Given the description of an element on the screen output the (x, y) to click on. 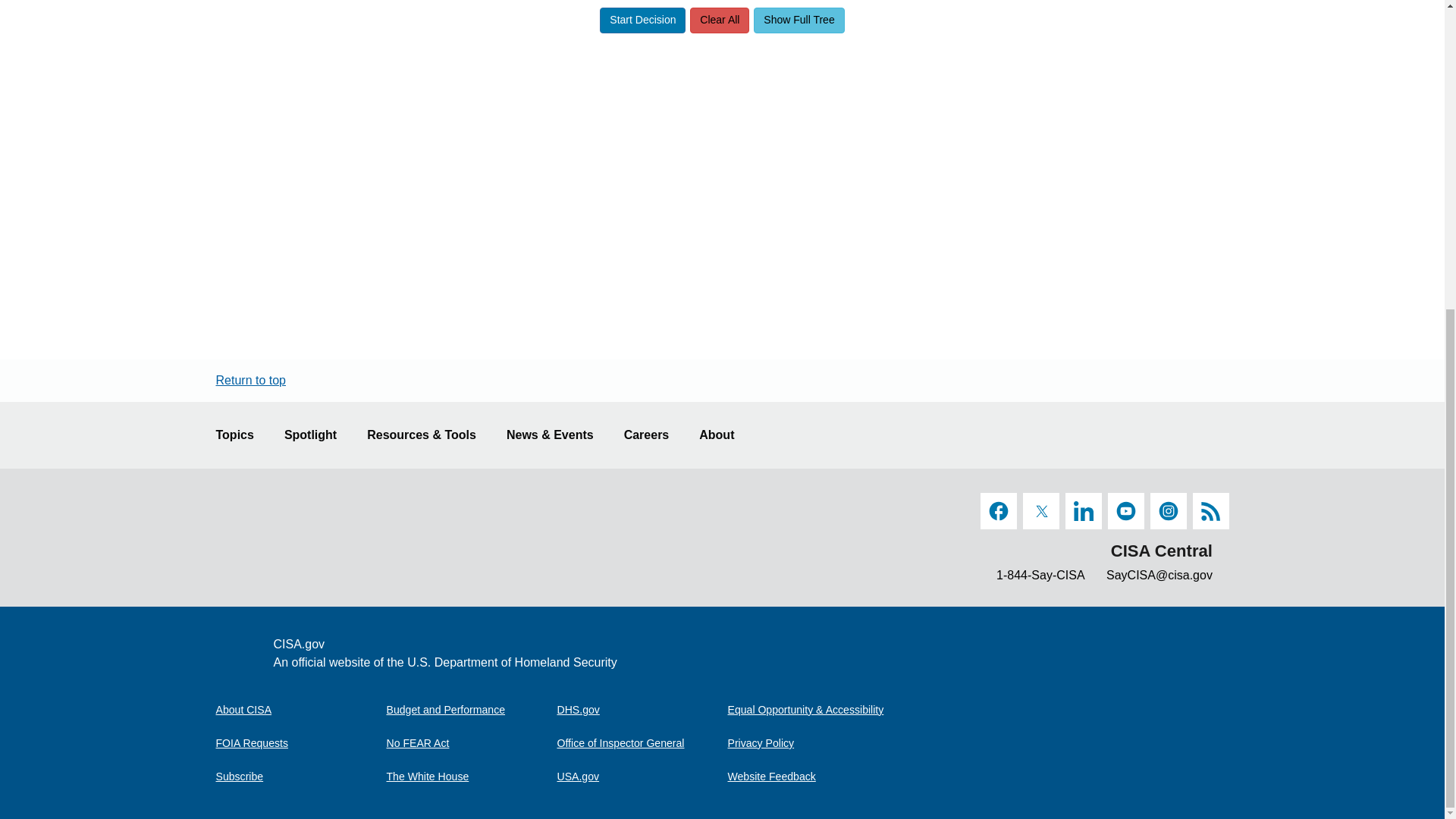
Explore the full decision tree of this SSVC Instance (799, 20)
Clear All (719, 20)
Start walking the SSVC decision tree (642, 20)
Start Decision (642, 20)
Show Full Tree (799, 20)
Clear all decisions and start over (719, 20)
